Given the description of an element on the screen output the (x, y) to click on. 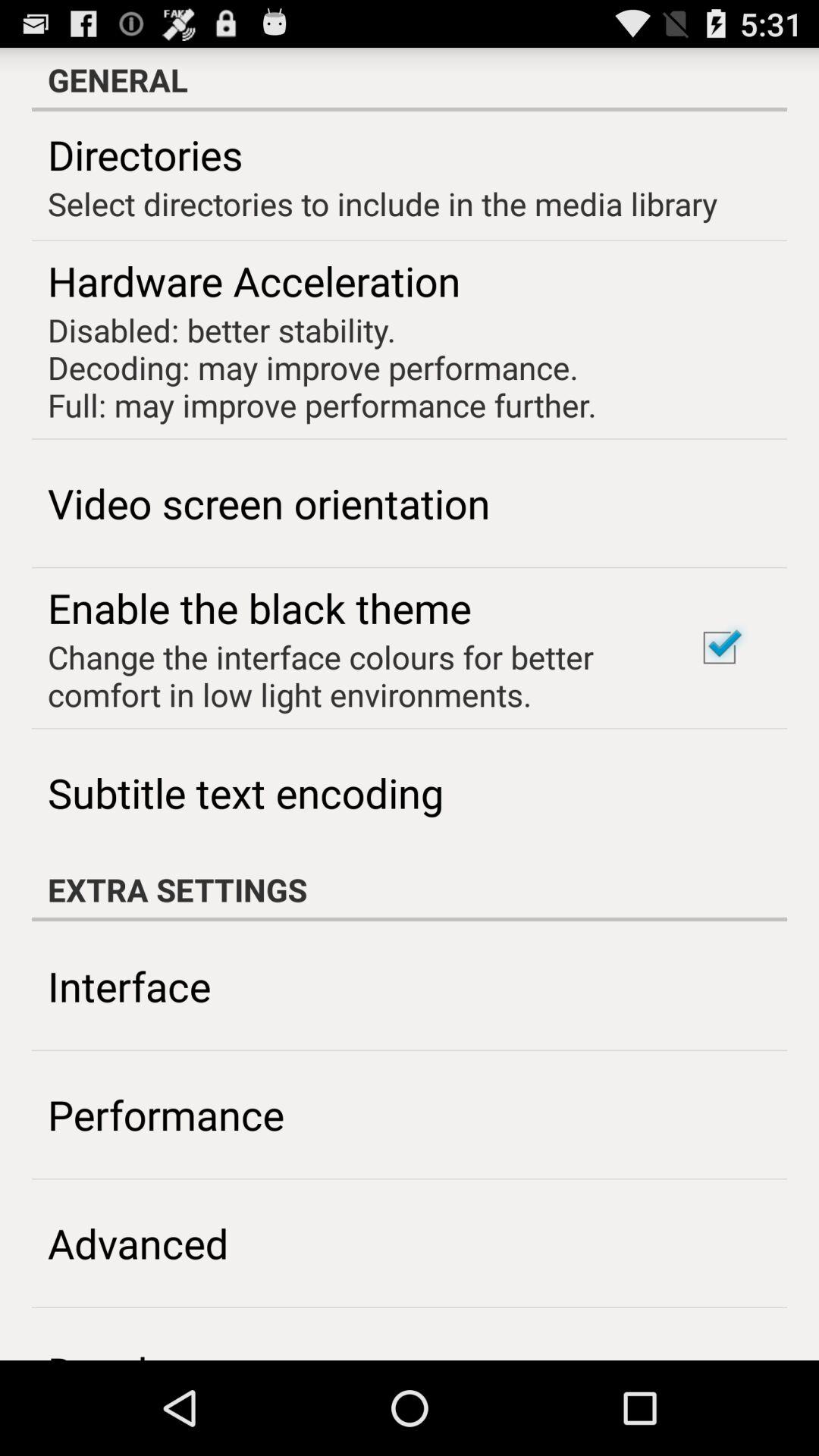
press app below the advanced icon (137, 1351)
